Given the description of an element on the screen output the (x, y) to click on. 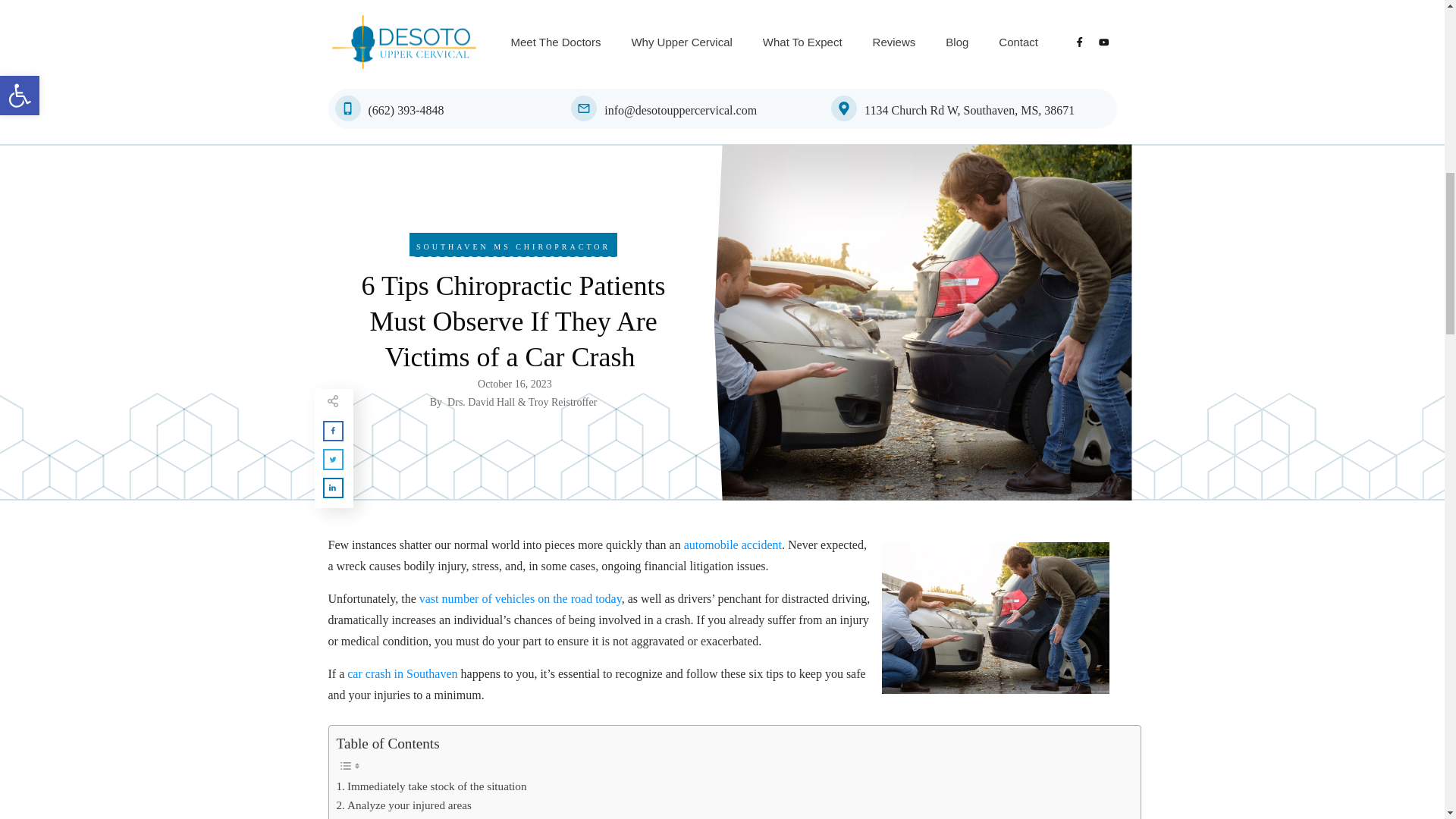
vast number of vehicles on the road today (520, 598)
Wait for the authorities (394, 816)
car crash in Southaven (402, 673)
1134 Church Rd W, Southaven, MS, 38671 (969, 110)
Wait for the authorities (394, 816)
Contact (1018, 42)
Immediately take stock of the situation (431, 786)
Southaven MS Chiropractor (513, 246)
Blog (956, 42)
Immediately take stock of the situation (431, 786)
SOUTHAVEN MS CHIROPRACTOR (513, 246)
What To Expect (802, 42)
Analyze your injured areas (403, 805)
Meet The Doctors (556, 42)
Analyze your injured areas (403, 805)
